Given the description of an element on the screen output the (x, y) to click on. 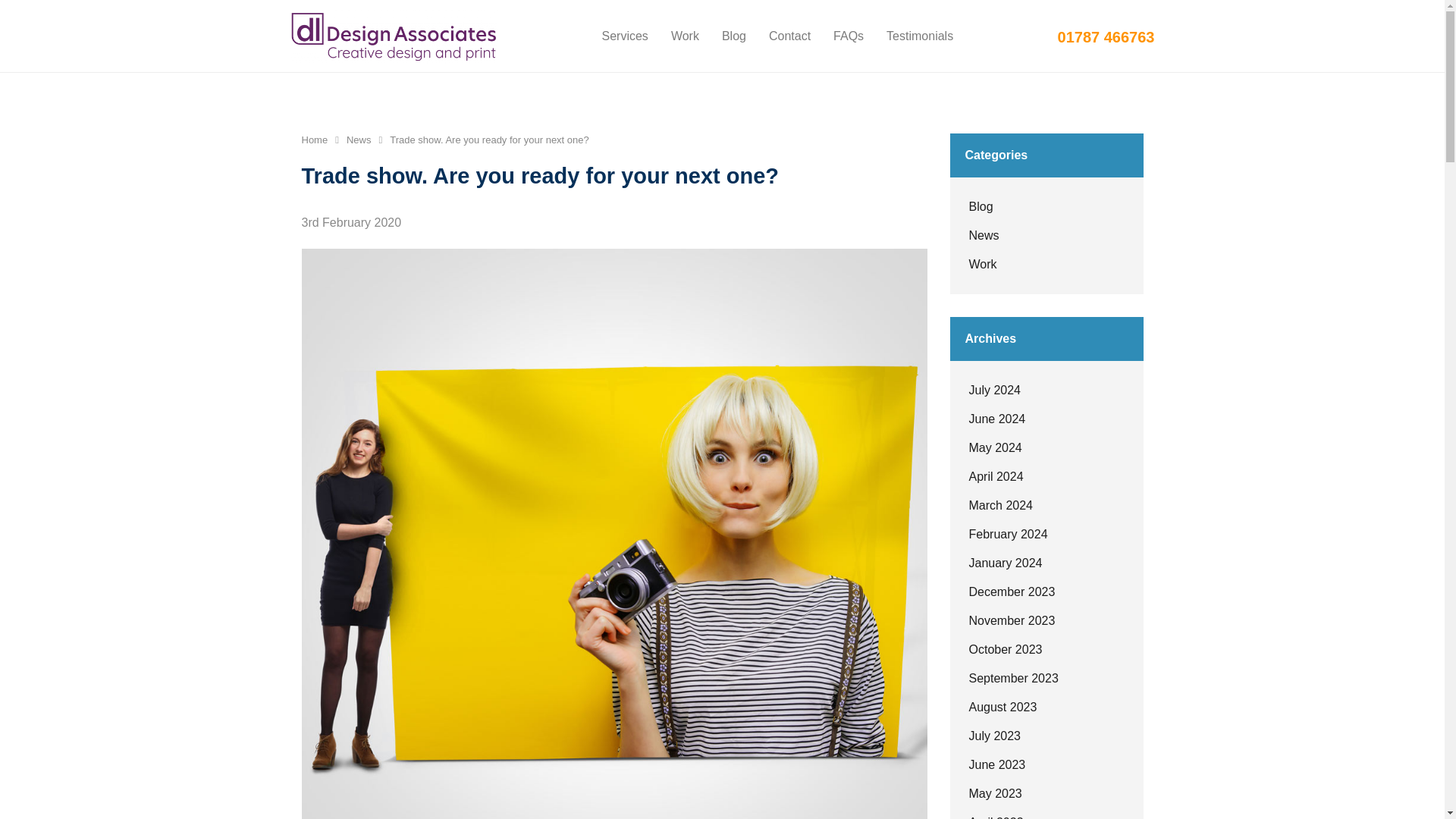
News (1044, 235)
Go to DL Design Associates Limited. (315, 139)
February 2024 (1044, 534)
March 2024 (1044, 505)
Home (315, 139)
Work (1044, 264)
Go to the News category archives. (358, 139)
May 2024 (1044, 448)
January 2024 (1044, 563)
Services (625, 36)
News (358, 139)
July 2024 (1044, 389)
December 2023 (1044, 592)
Work (684, 36)
FAQs (848, 36)
